Given the description of an element on the screen output the (x, y) to click on. 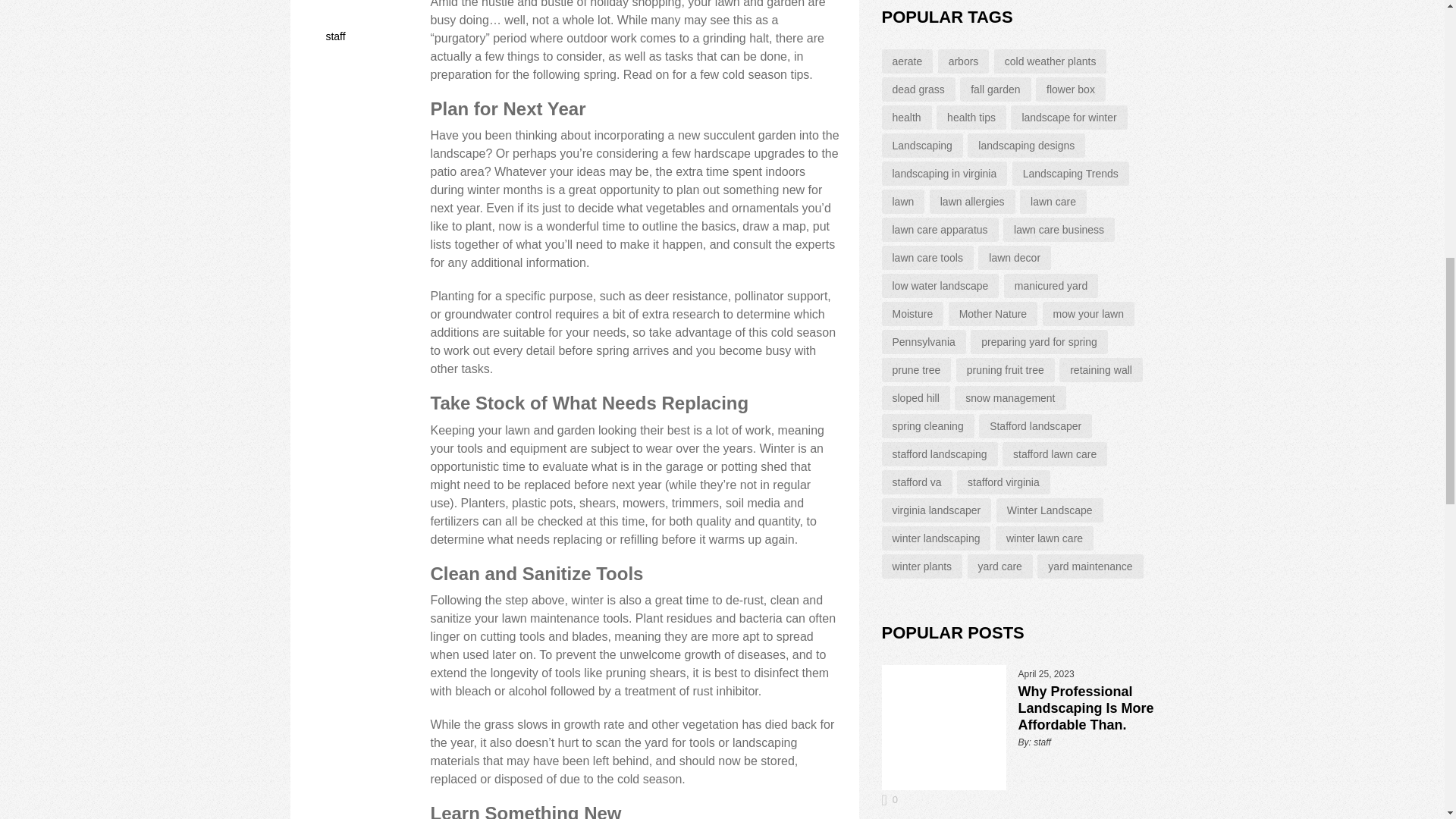
aerate (906, 61)
arbors (963, 61)
